Given the description of an element on the screen output the (x, y) to click on. 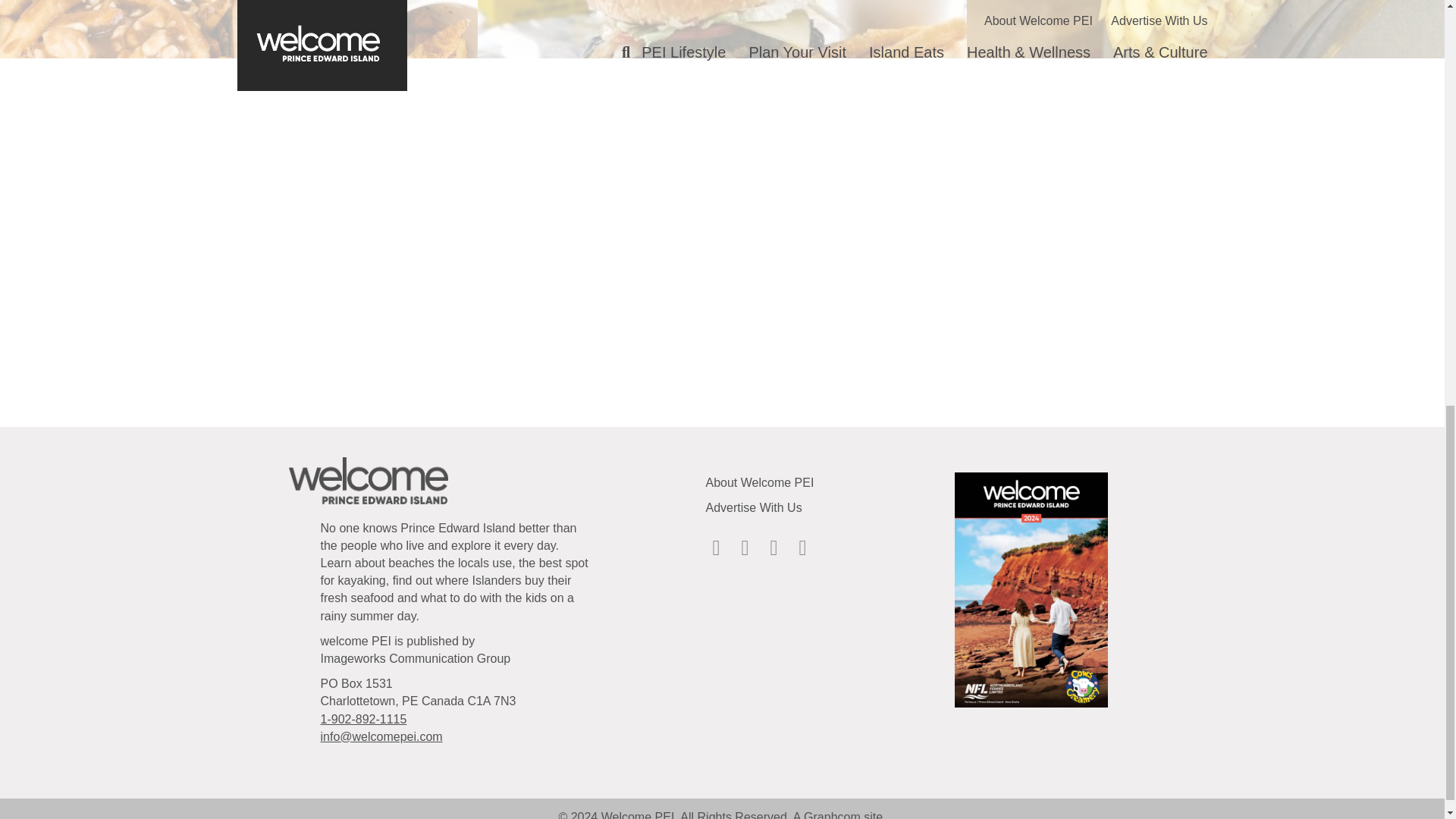
1-902-892-1115 (363, 718)
About Welcome PEI (758, 481)
Advertise With Us (753, 507)
